Given the description of an element on the screen output the (x, y) to click on. 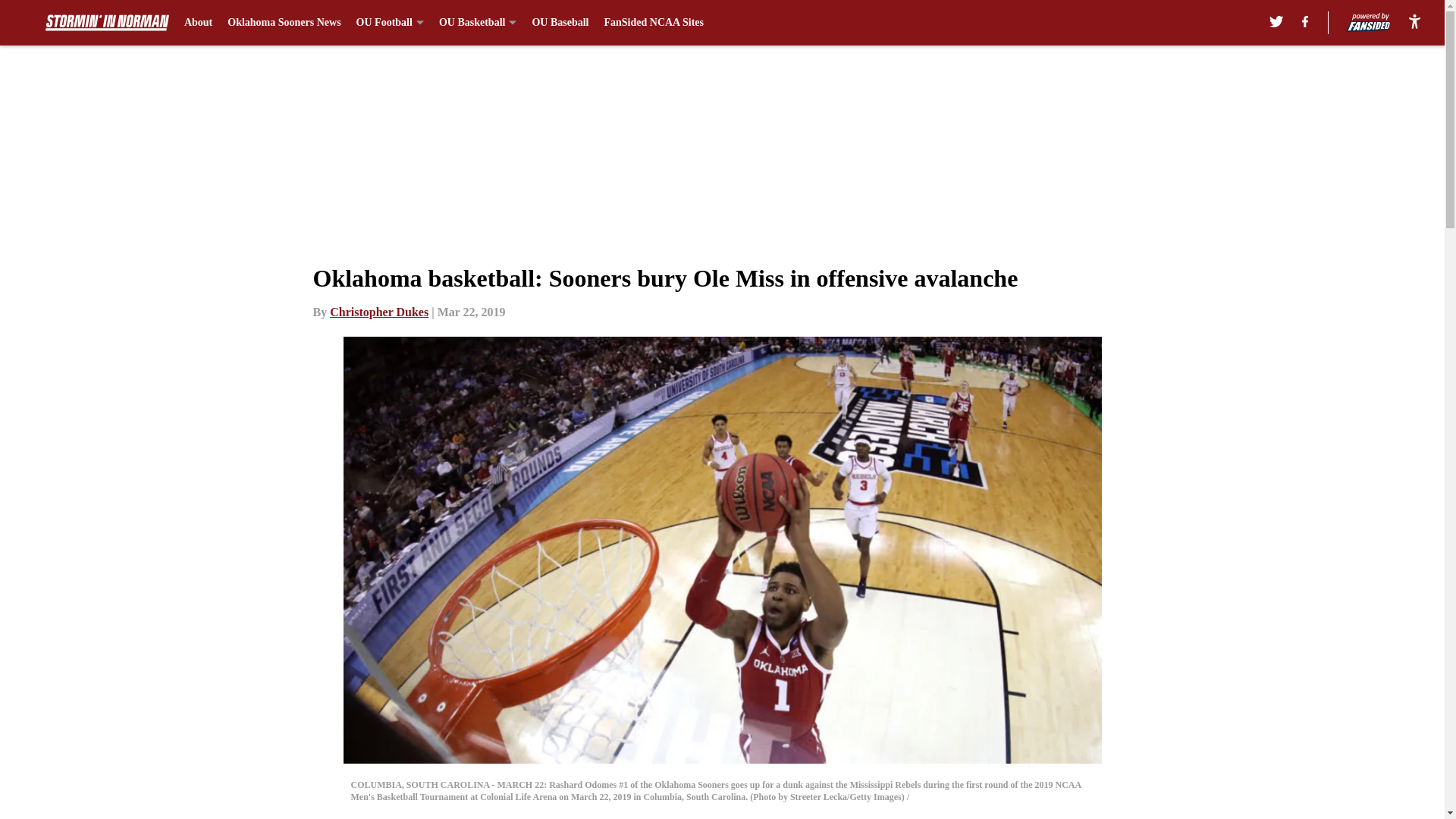
About (198, 22)
Christopher Dukes (379, 311)
FanSided NCAA Sites (653, 22)
OU Baseball (559, 22)
Oklahoma Sooners News (283, 22)
